Given the description of an element on the screen output the (x, y) to click on. 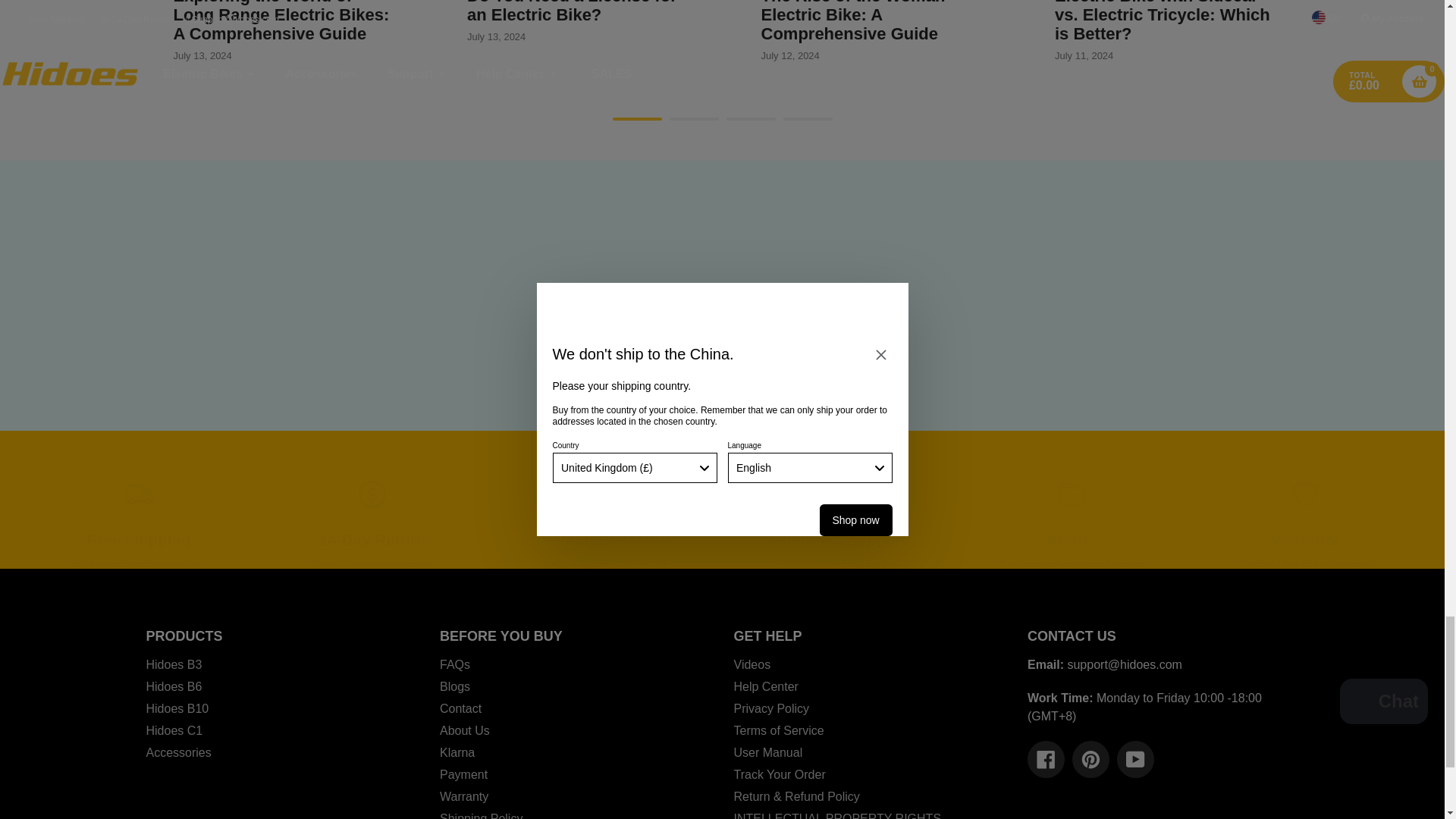
Warranty (1305, 565)
Payment (622, 565)
Refund Policy (372, 565)
Shipping Policy (165, 565)
Klarna (1072, 565)
